Given the description of an element on the screen output the (x, y) to click on. 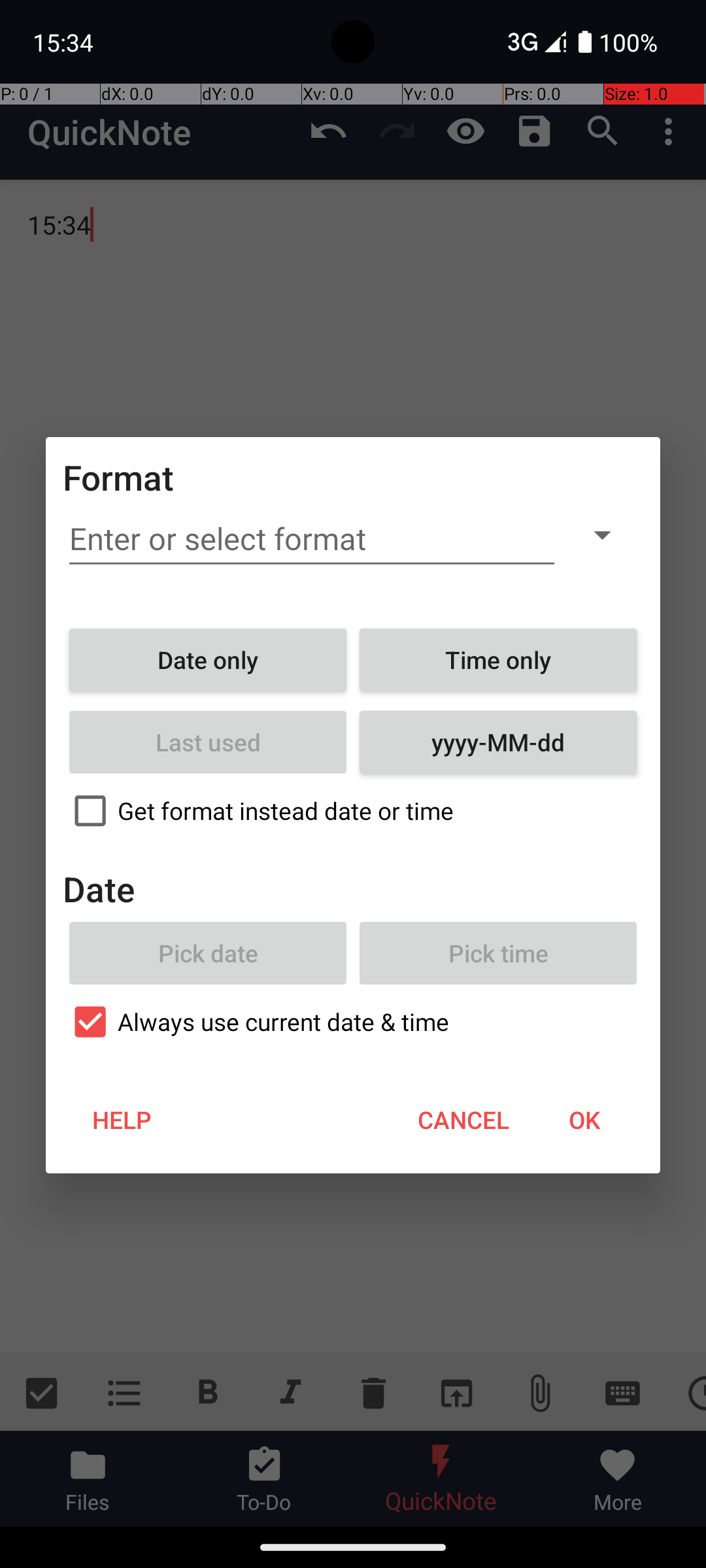
Enter or select format Element type: android.widget.EditText (311, 538)
